Given the description of an element on the screen output the (x, y) to click on. 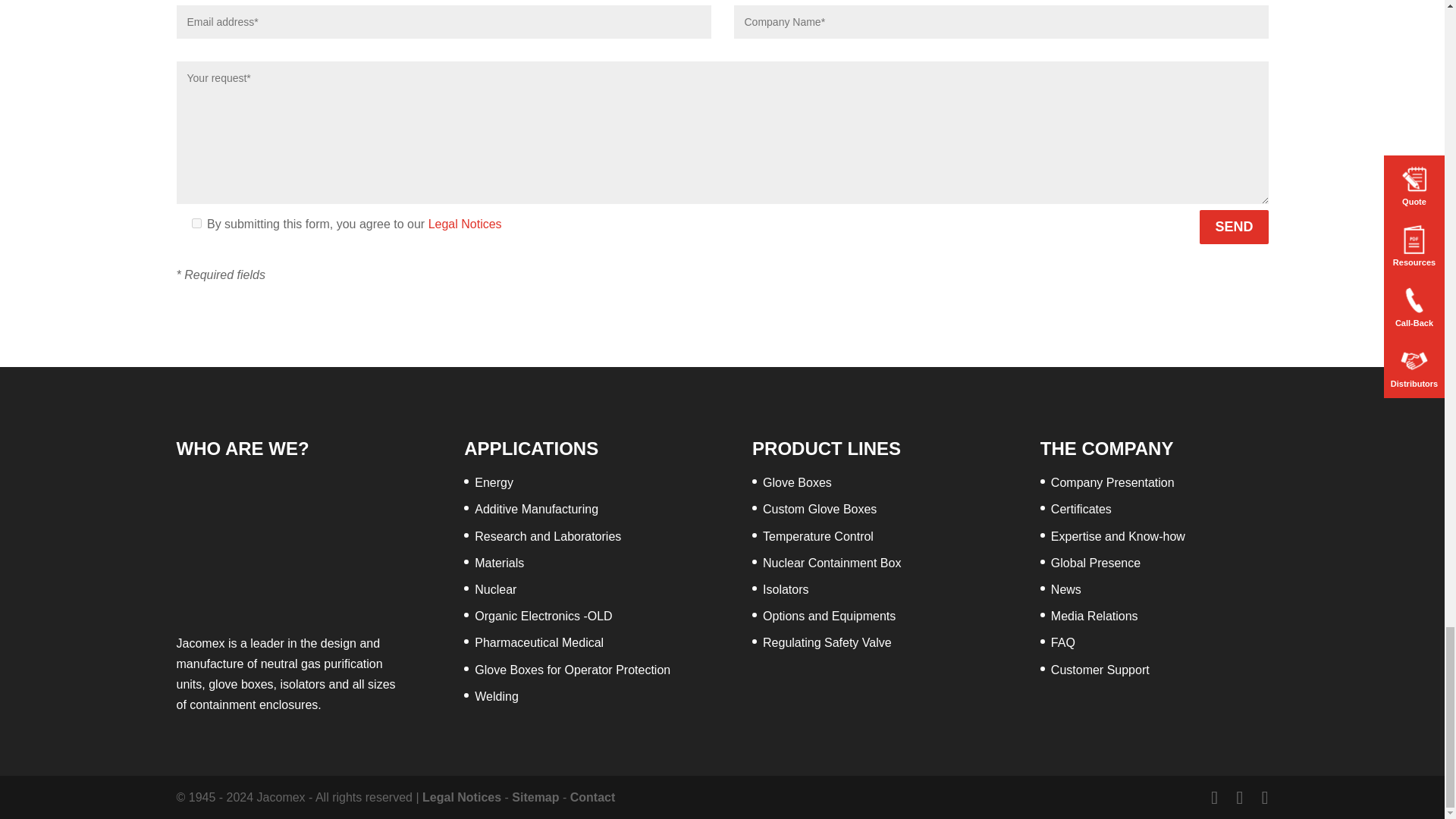
Send (1233, 226)
1 (195, 223)
